Given the description of an element on the screen output the (x, y) to click on. 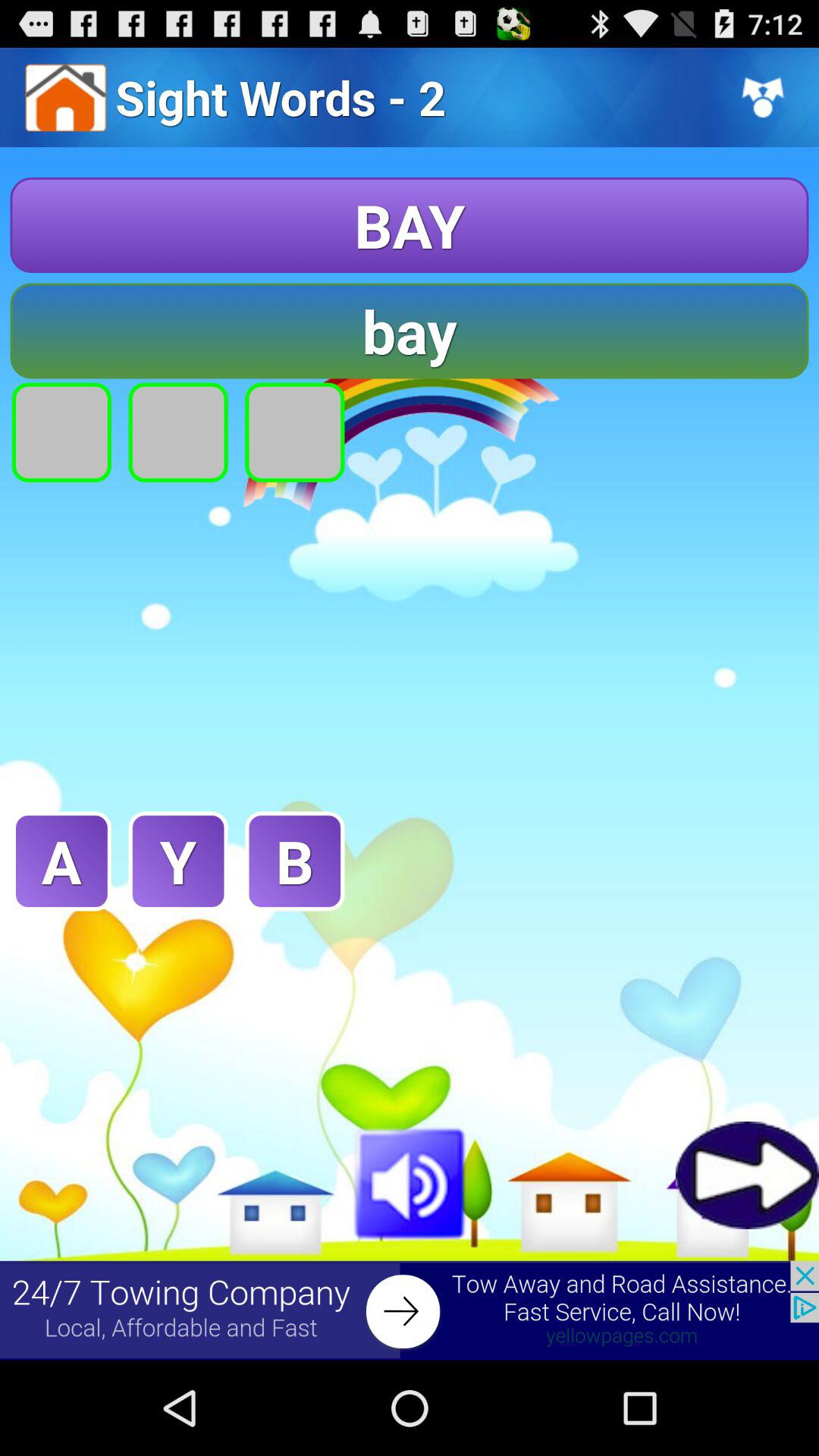
open advertisement (409, 1310)
